Given the description of an element on the screen output the (x, y) to click on. 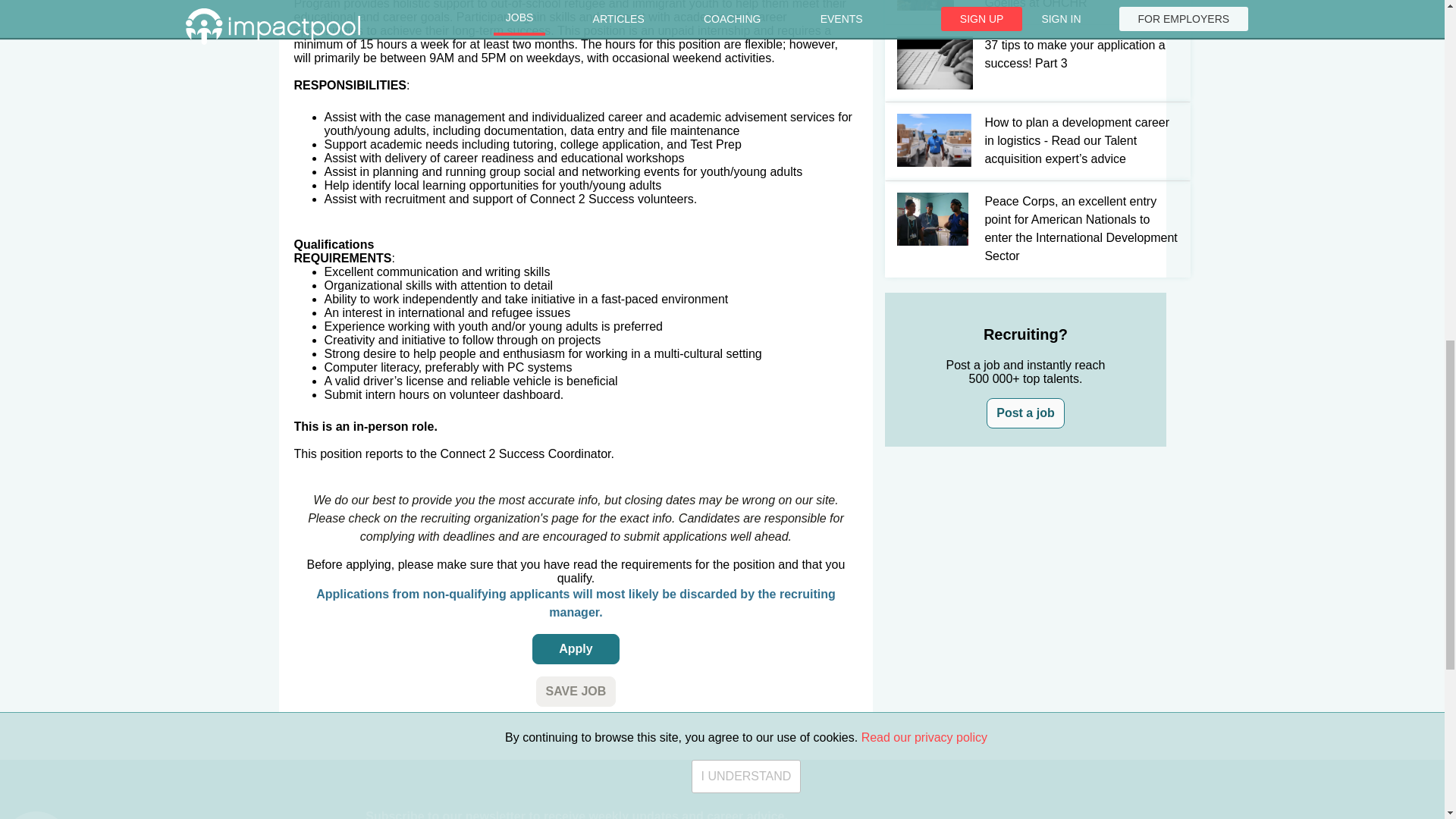
37 tips to make your application a success! Part 3 (1025, 62)
Post a job (1025, 413)
Apply (576, 648)
Read our privacy policy (924, 4)
SAVE JOB (575, 691)
I UNDERSTAND (746, 36)
